Given the description of an element on the screen output the (x, y) to click on. 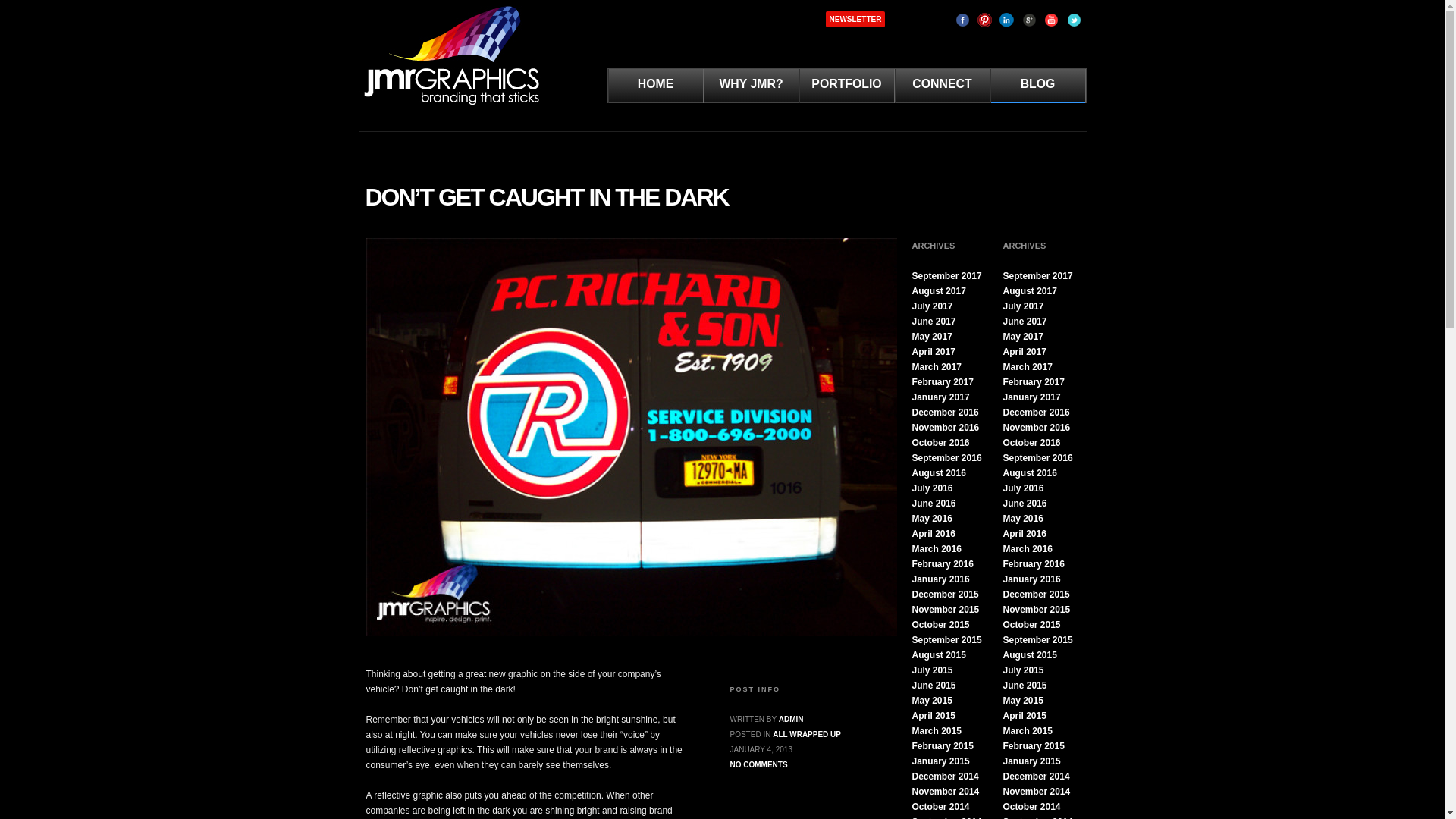
August 2017 (938, 290)
September 2017 (946, 276)
View all posts in ALL WRAPPED UP (807, 734)
WHY JMR? (750, 88)
November 2016 (944, 427)
PORTFOLIO (846, 88)
December 2016 (944, 412)
HOME (654, 88)
Posts by admin (790, 718)
February 2017 (941, 381)
July 2017 (931, 306)
March 2017 (935, 366)
May 2017 (931, 336)
NEWSLETTER (855, 19)
